Given the description of an element on the screen output the (x, y) to click on. 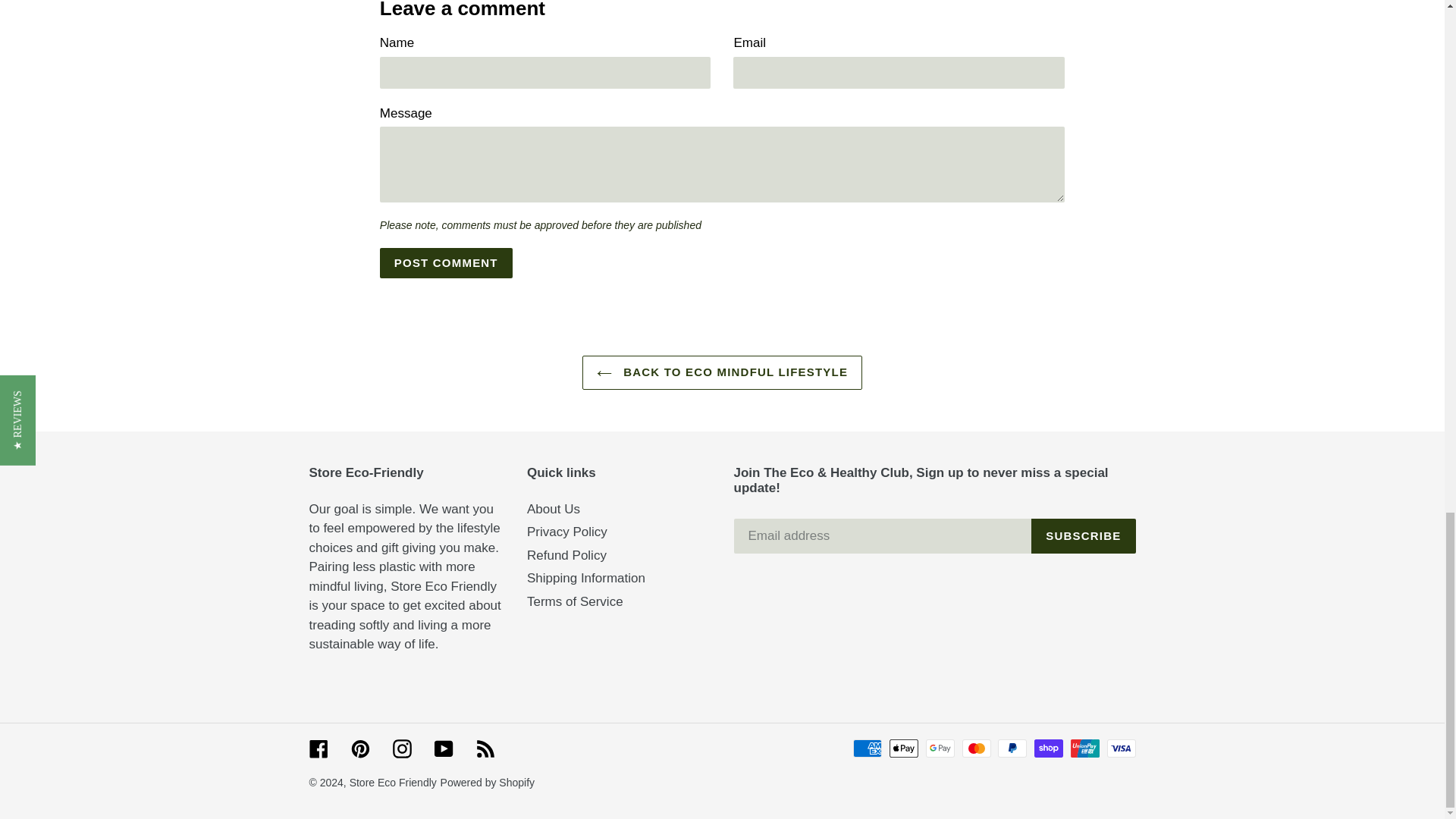
Post comment (446, 263)
